Given the description of an element on the screen output the (x, y) to click on. 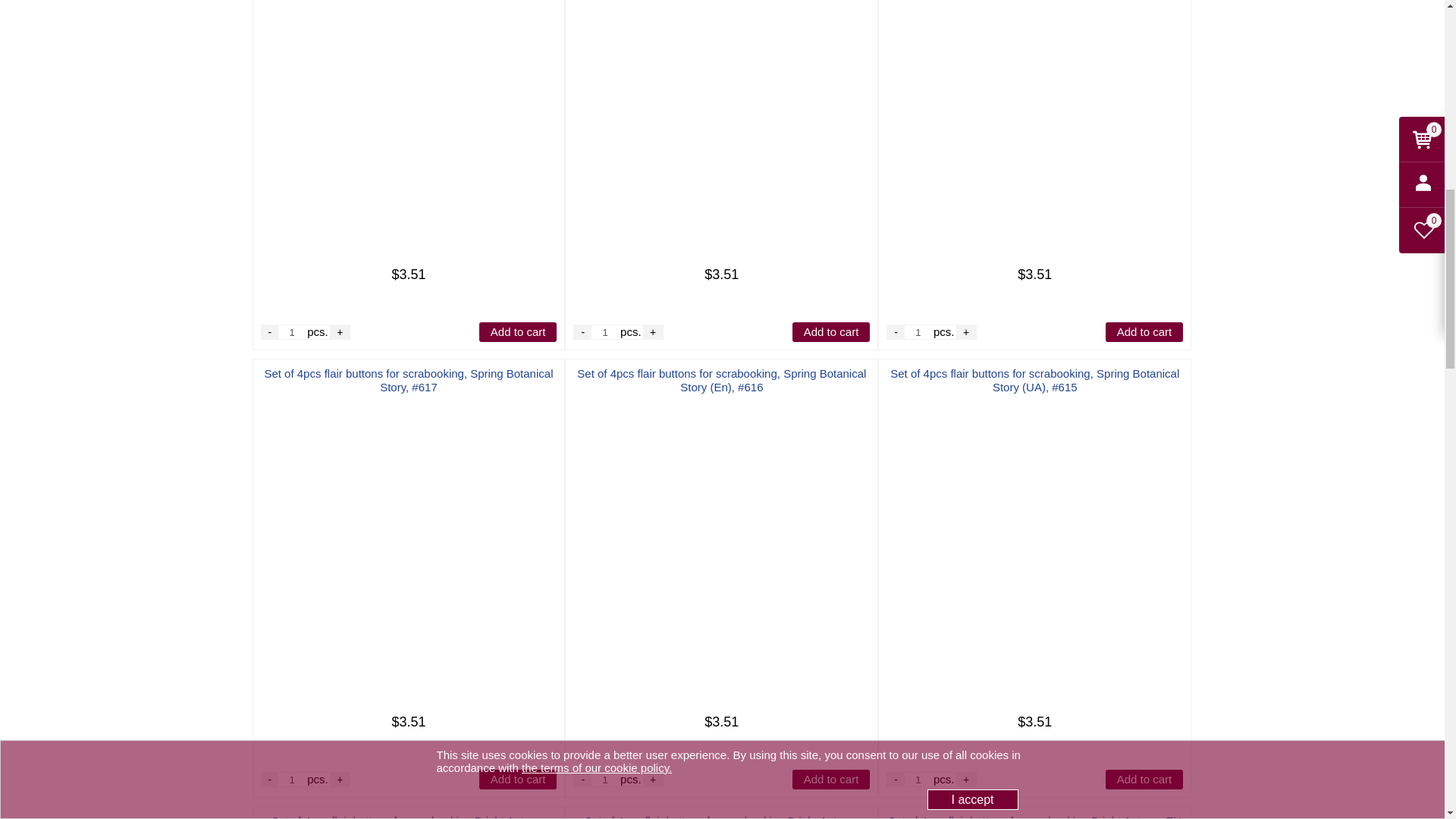
1 (917, 779)
1 (604, 332)
1 (291, 779)
1 (917, 332)
1 (604, 779)
1 (291, 332)
